Given the description of an element on the screen output the (x, y) to click on. 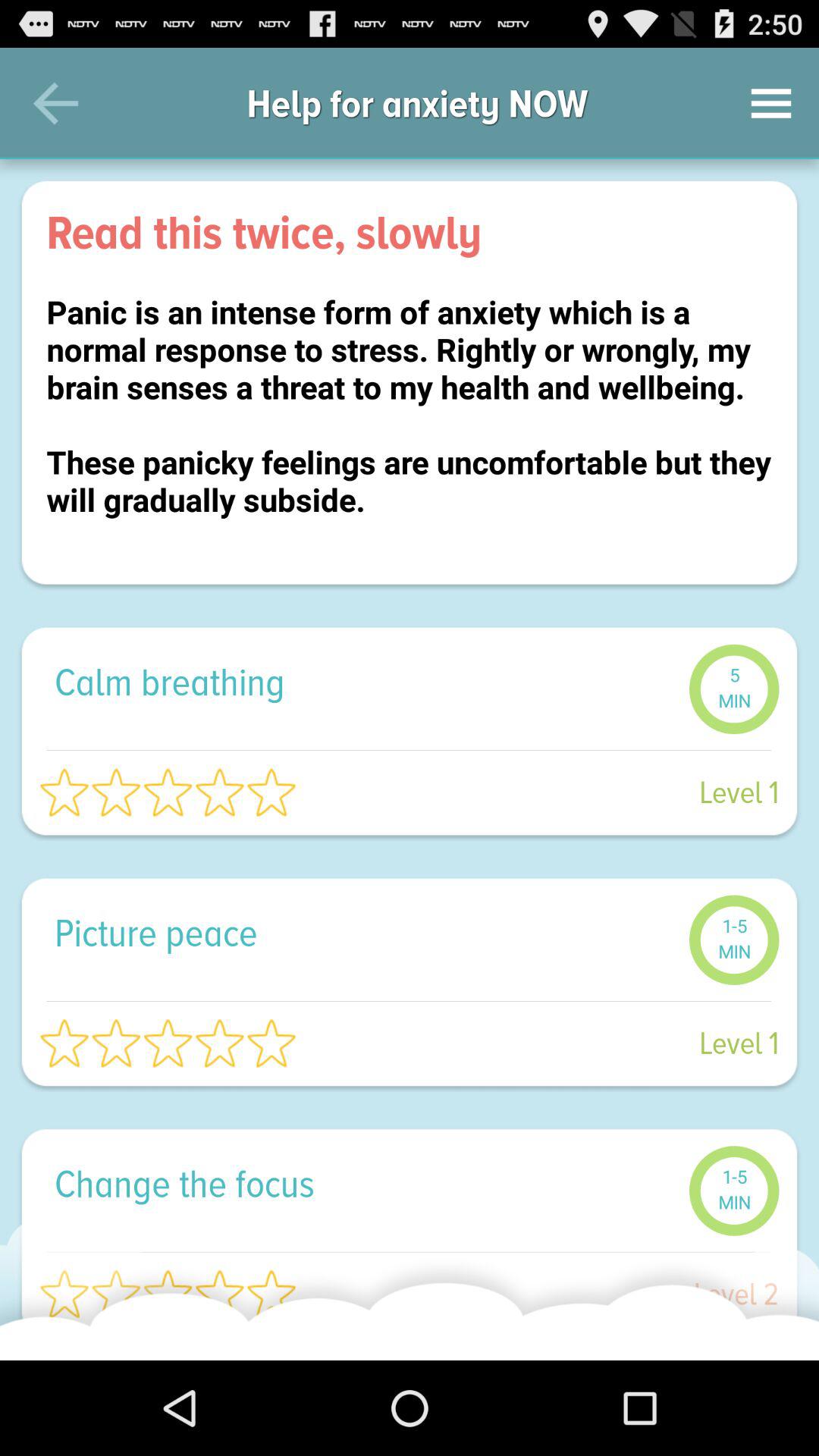
turn off the picture peace item (363, 932)
